Given the description of an element on the screen output the (x, y) to click on. 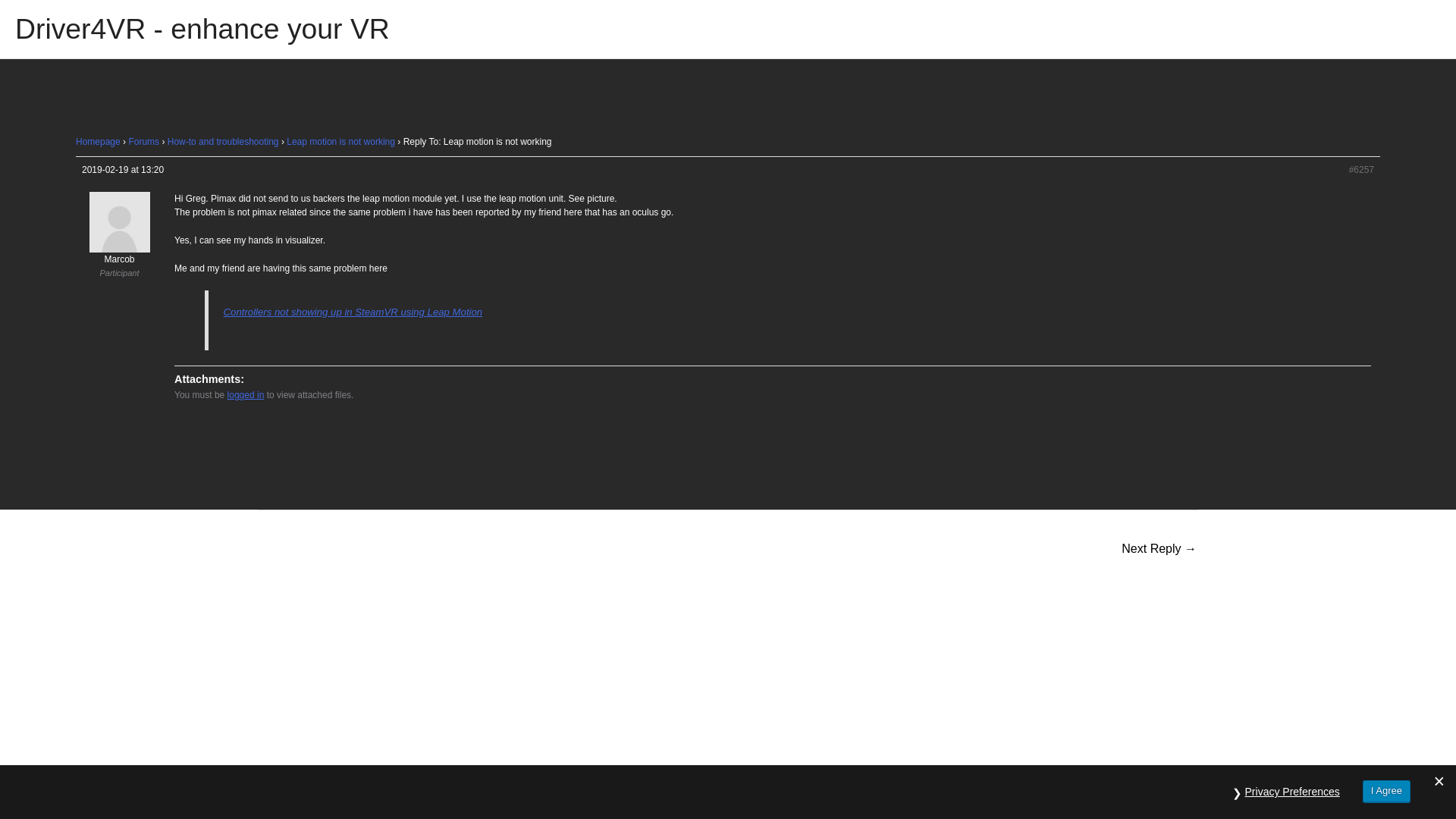
Driver4VR - enhance your VR (202, 29)
Leap motion is not working (340, 141)
Homepage (97, 141)
View Marcob's profile (119, 238)
Forums (143, 141)
Marcob (119, 238)
How-to and troubleshooting (223, 141)
logged in (245, 394)
Controllers not showing up in SteamVR using Leap Motion (353, 311)
